Given the description of an element on the screen output the (x, y) to click on. 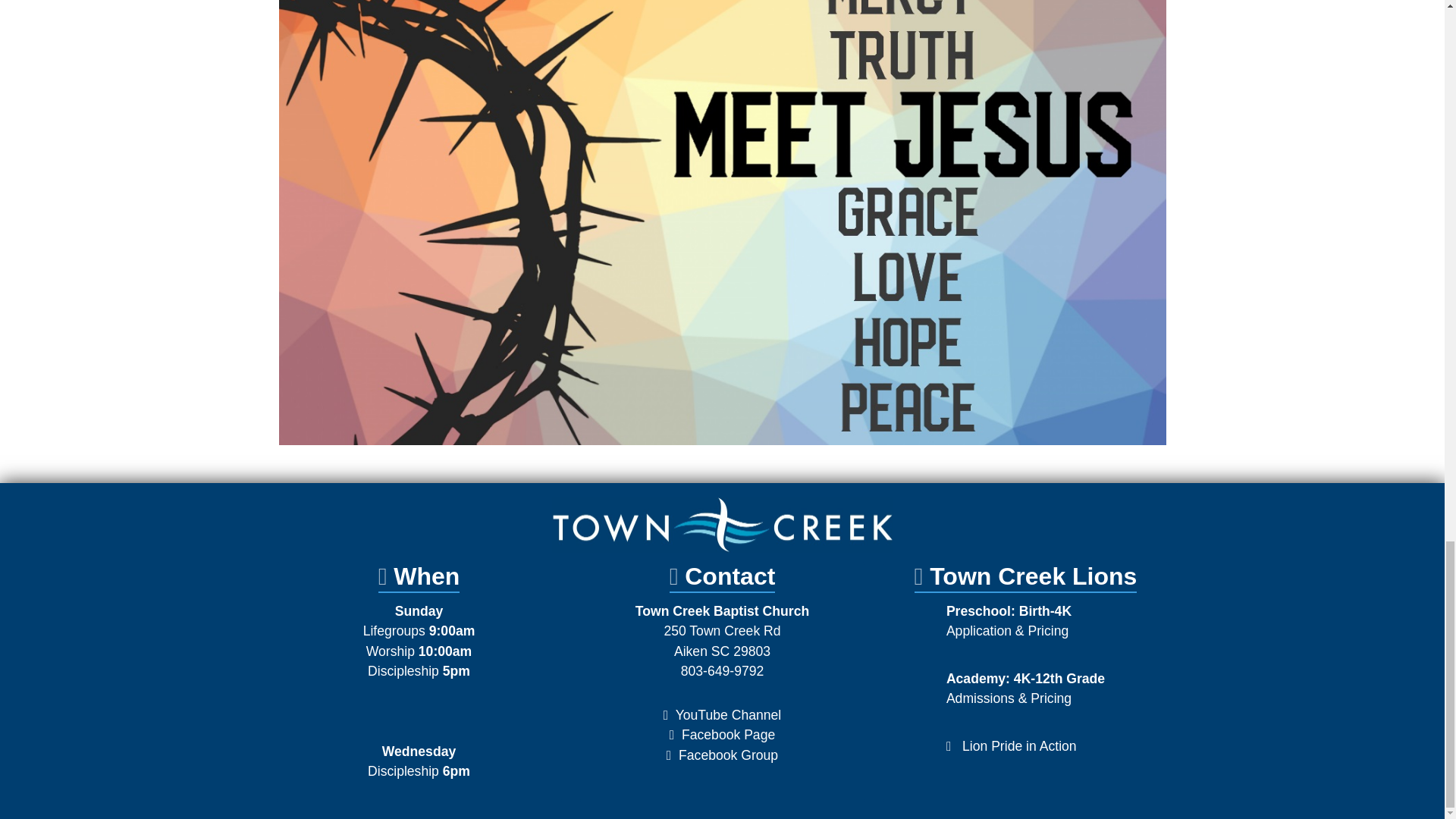
Town Creek Lions (1033, 575)
Lion Pride in Action (721, 640)
Facebook Group (1019, 745)
YouTube Channel (727, 754)
Facebook Page (728, 714)
